Given the description of an element on the screen output the (x, y) to click on. 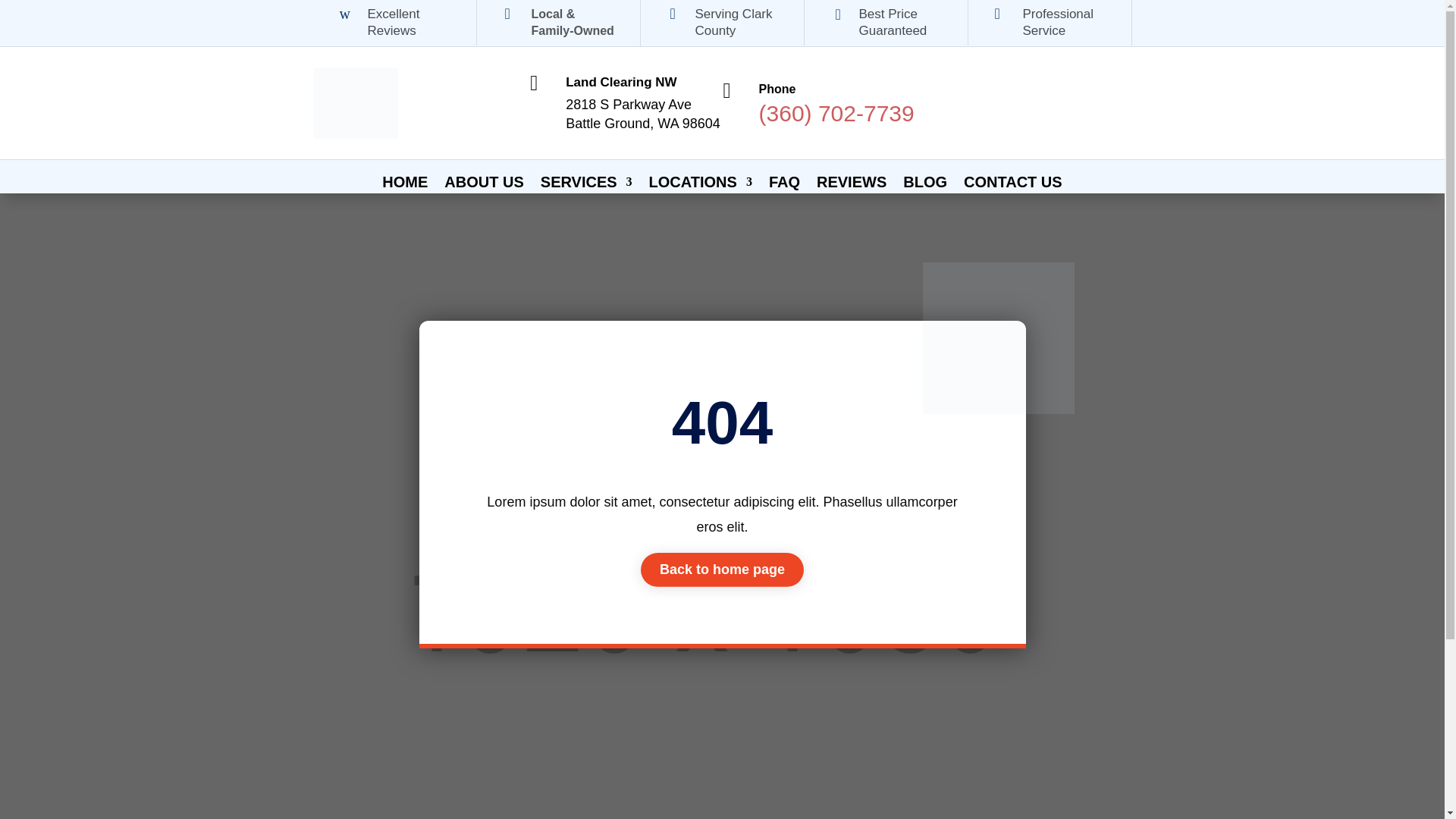
SERVICES (585, 184)
HOME (404, 184)
ABOUT US (483, 184)
floating-200x200 (997, 338)
Logo LAND CLEARING NW (355, 102)
LOCATIONS (700, 184)
